Given the description of an element on the screen output the (x, y) to click on. 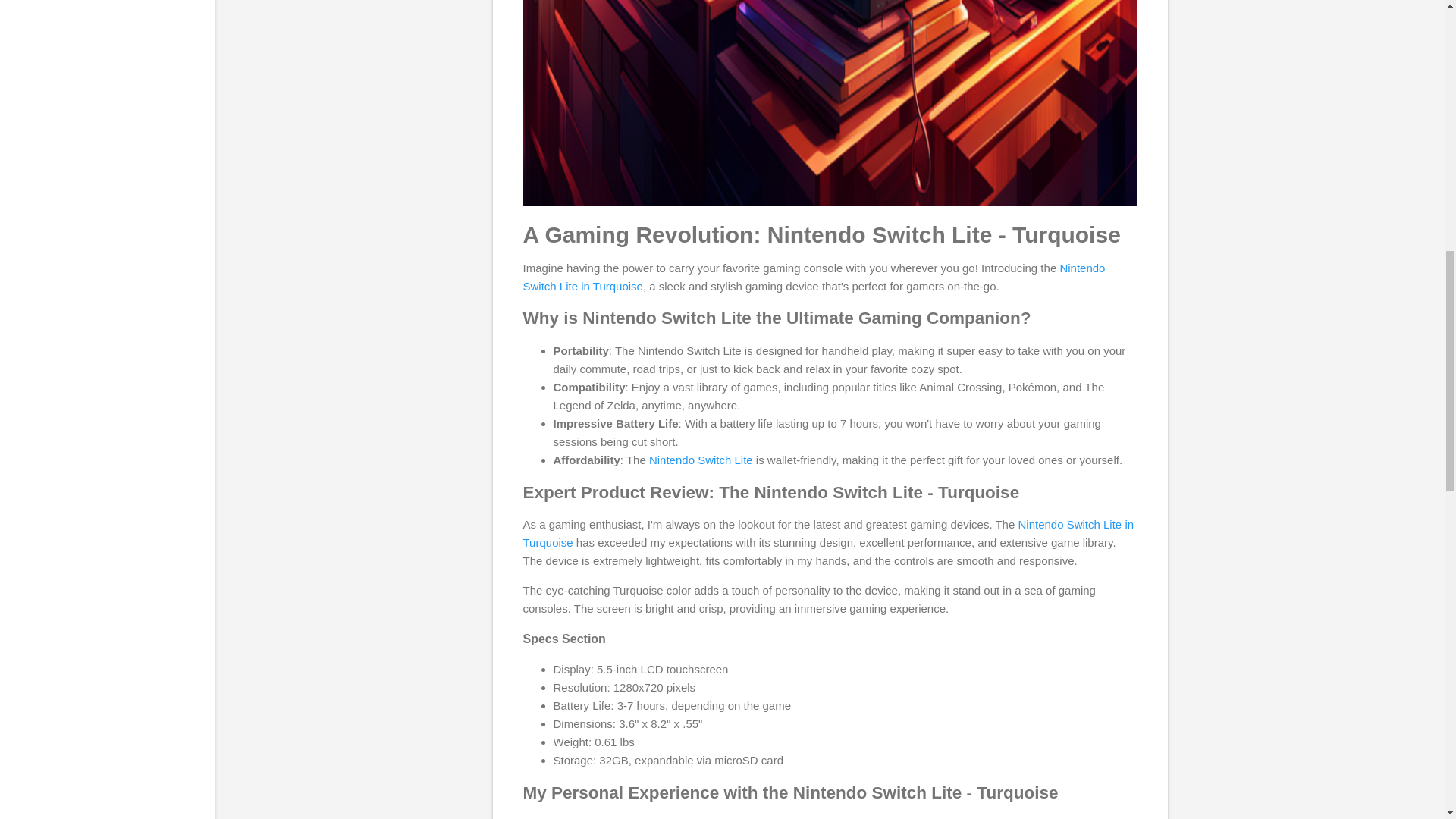
Nintendo Switch Lite in Turquoise (828, 532)
Nintendo Switch Lite in Turquoise (813, 276)
Nintendo Switch Lite (700, 459)
